Given the description of an element on the screen output the (x, y) to click on. 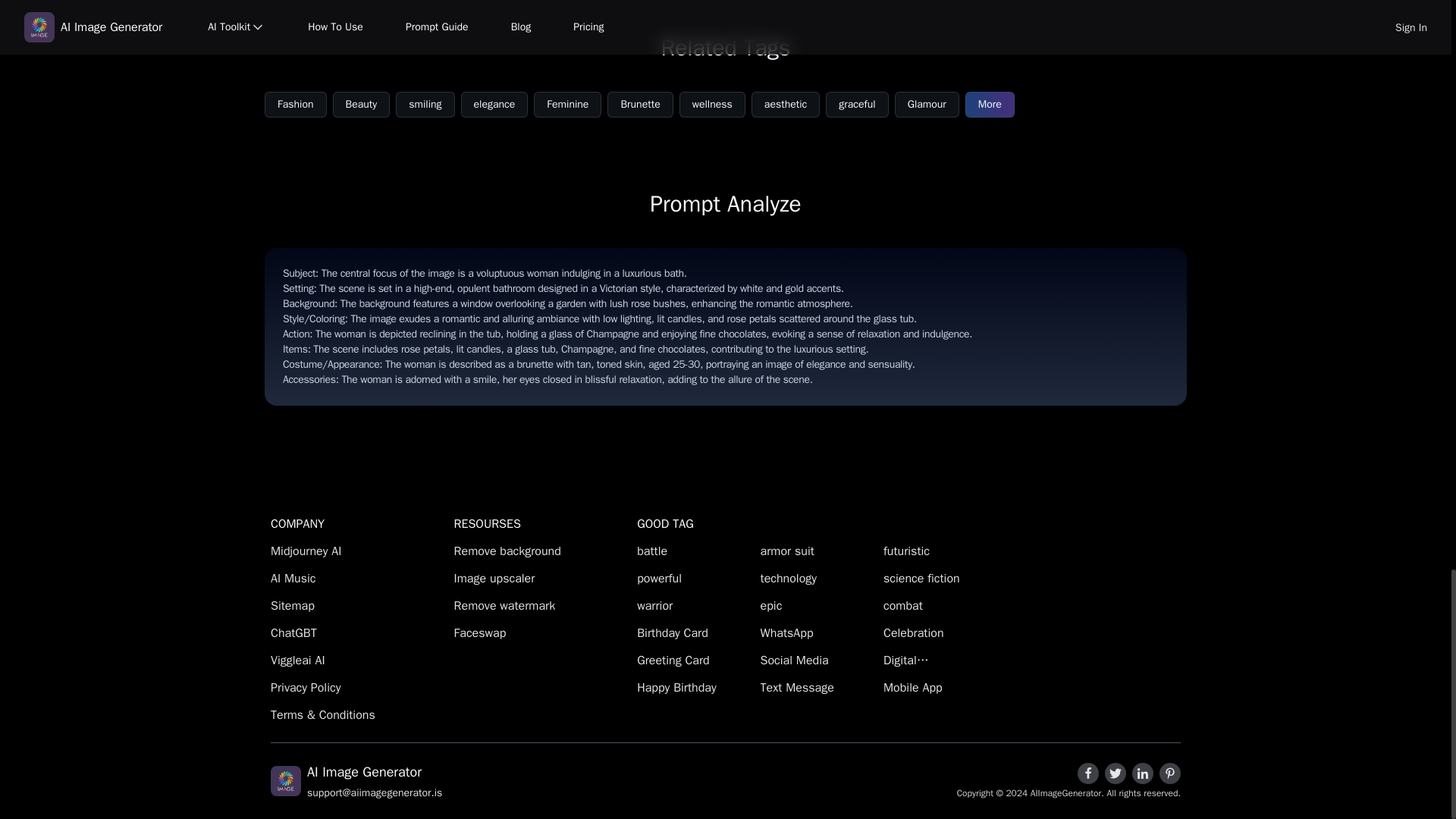
futuristic (940, 551)
Remove watermark (542, 606)
ChatGBT (359, 633)
More (989, 104)
Remove background (542, 551)
Feminine (567, 104)
Sitemap (359, 606)
Privacy Policy (359, 687)
armor suit (817, 551)
Midjourney AI (359, 551)
